Given the description of an element on the screen output the (x, y) to click on. 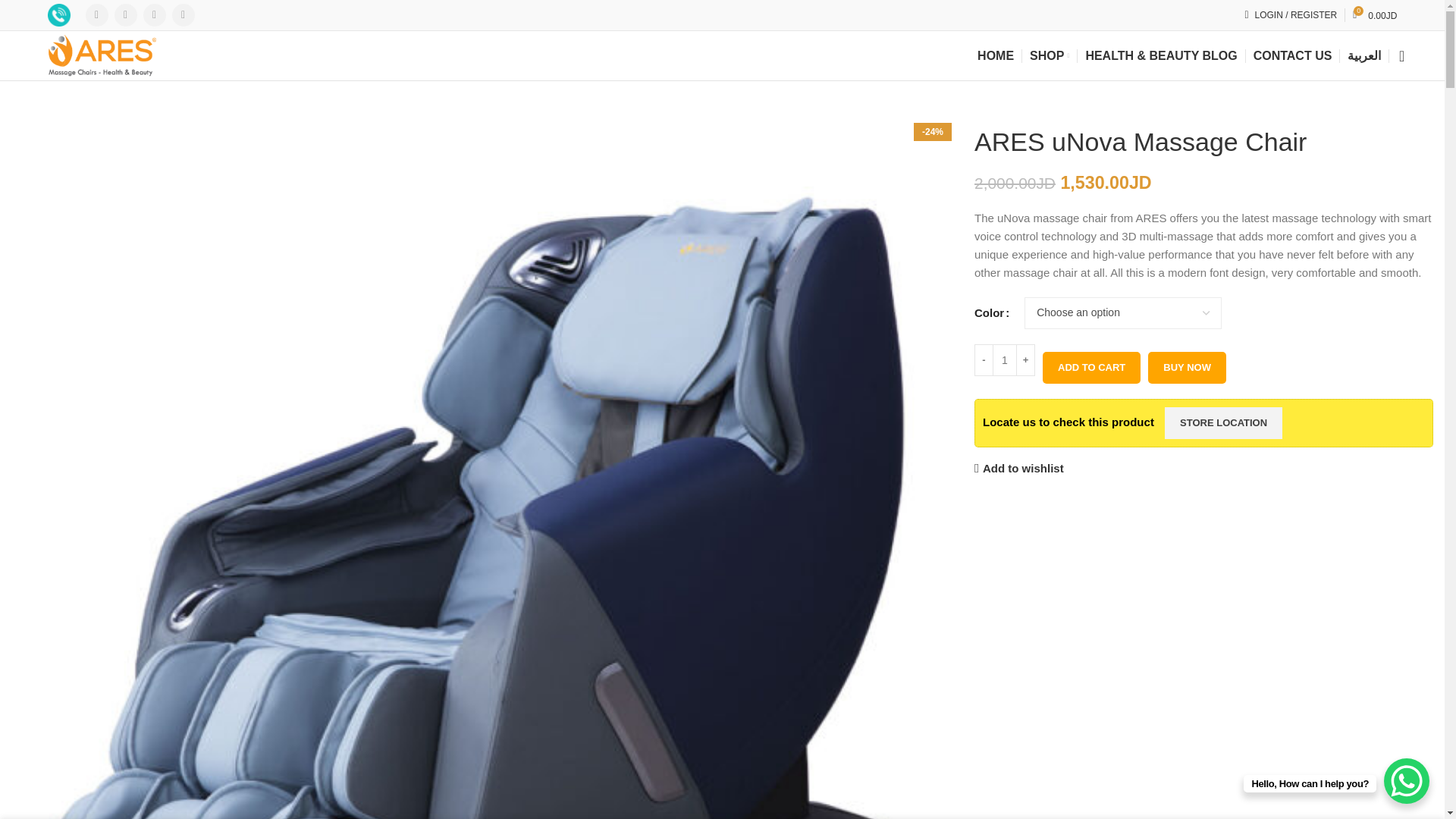
Shopping cart (1375, 15)
My account (1375, 15)
CONTACT US (1289, 15)
HOME (1292, 55)
SHOP (994, 55)
